Given the description of an element on the screen output the (x, y) to click on. 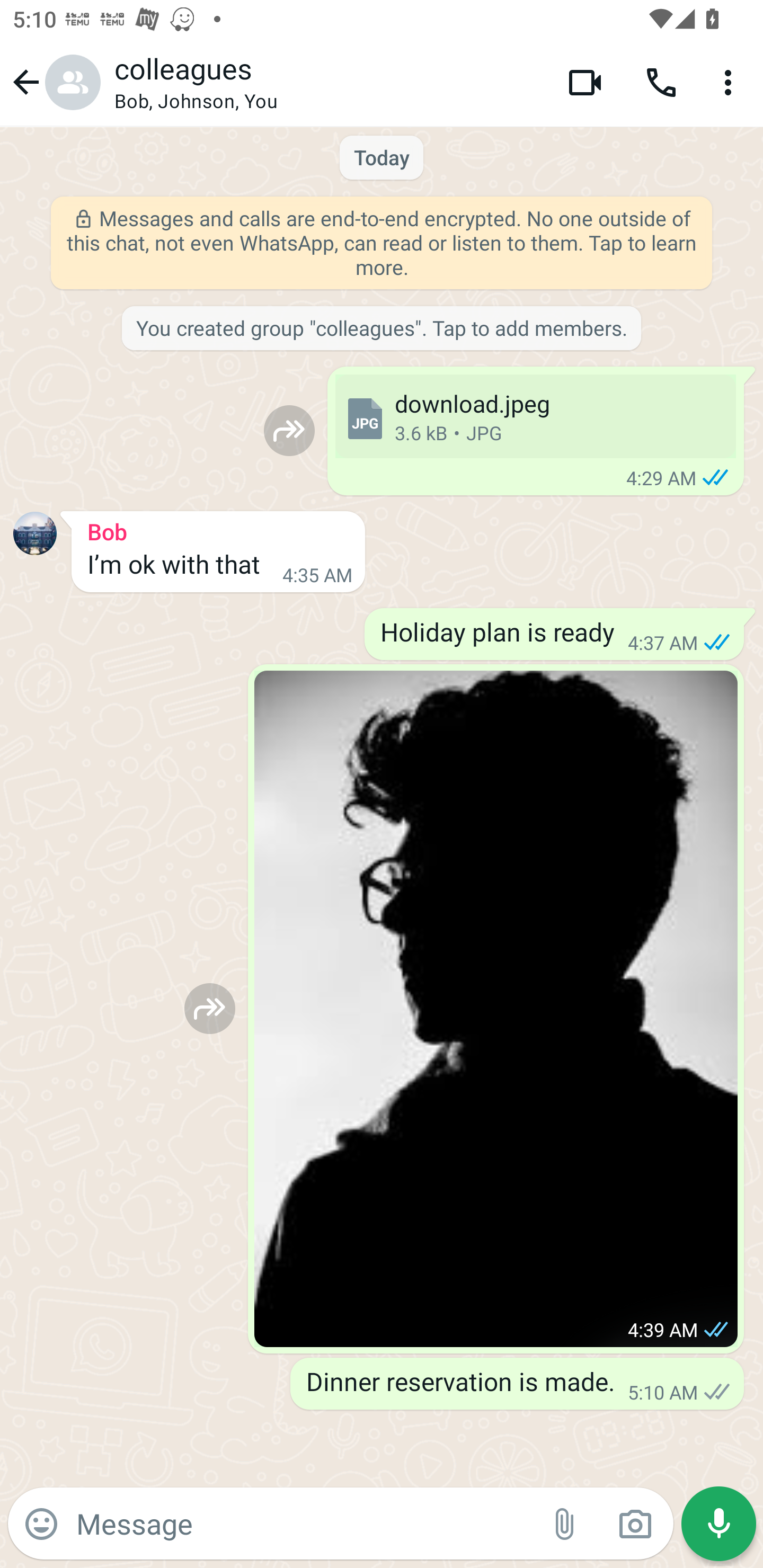
colleagues Bob, Johnson, You (327, 82)
Navigate up (54, 82)
Video call (585, 81)
Voice call (661, 81)
More options (731, 81)
download.jpeg 3.6 kB • JPG (535, 415)
Forward to… (288, 430)
Profile picture for Bob (34, 533)
Bob (217, 529)
View photo (495, 1008)
Forward to… (209, 1008)
Emoji (41, 1523)
Attach (565, 1523)
Camera (634, 1523)
Message (303, 1523)
